Given the description of an element on the screen output the (x, y) to click on. 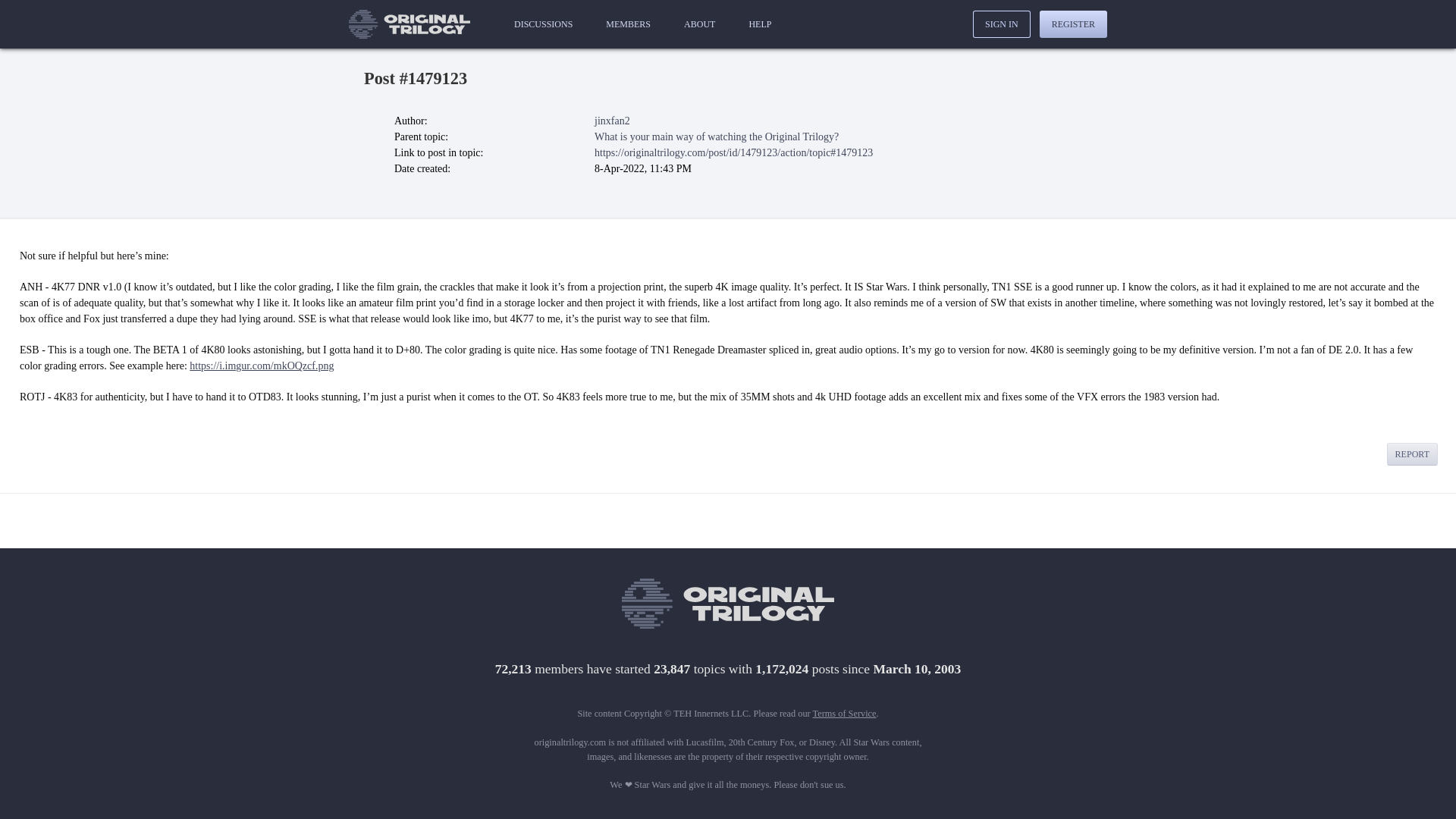
REPORT (1412, 454)
SIGN IN (1001, 23)
What is your main way of watching the Original Trilogy? (716, 136)
DISCUSSIONS (542, 24)
REGISTER (1072, 23)
Terms of Service (844, 713)
MEMBERS (628, 24)
jinxfan2 (612, 120)
HELP (759, 24)
ABOUT (699, 24)
